Given the description of an element on the screen output the (x, y) to click on. 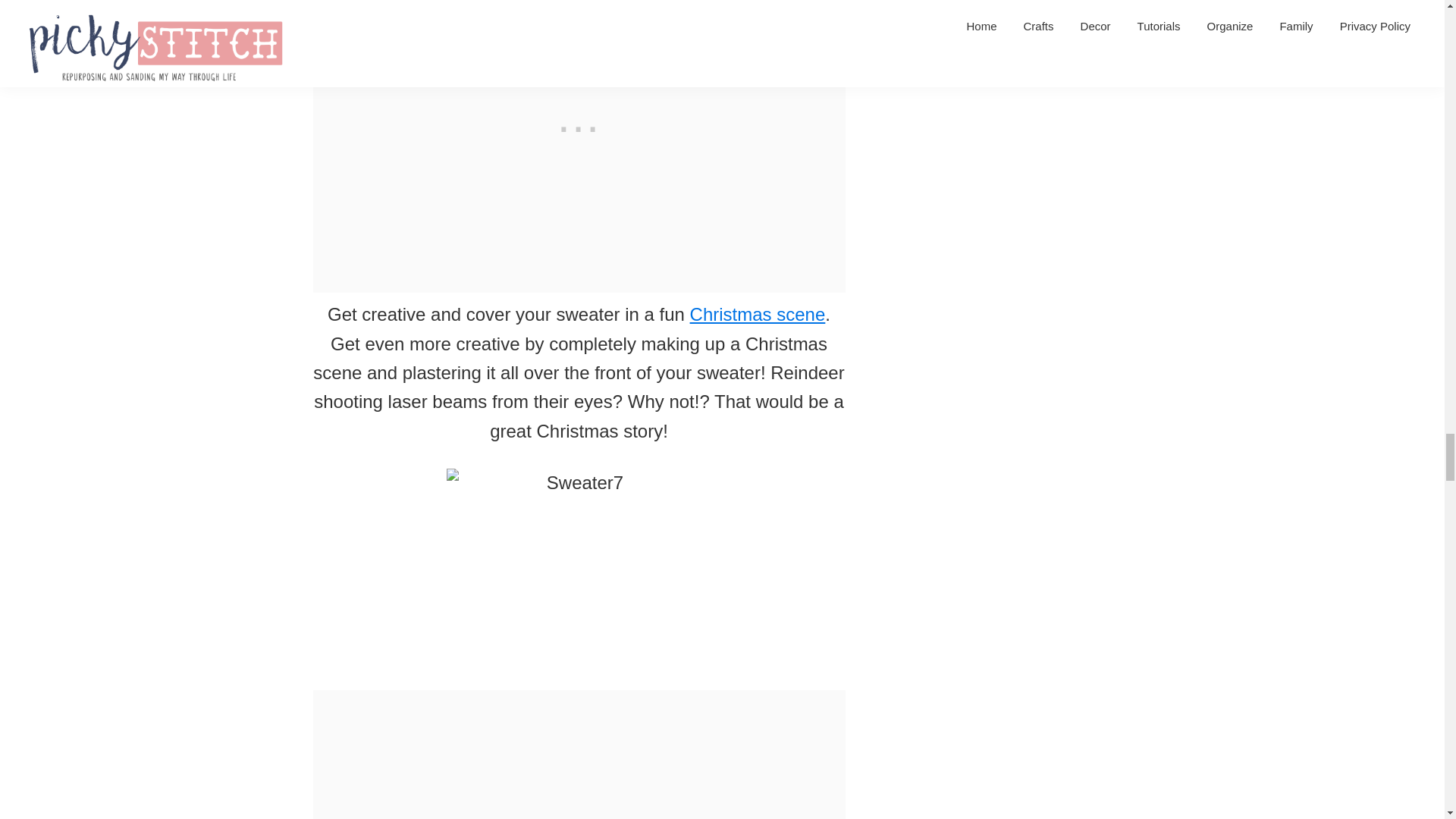
Christmas scene (757, 313)
